Given the description of an element on the screen output the (x, y) to click on. 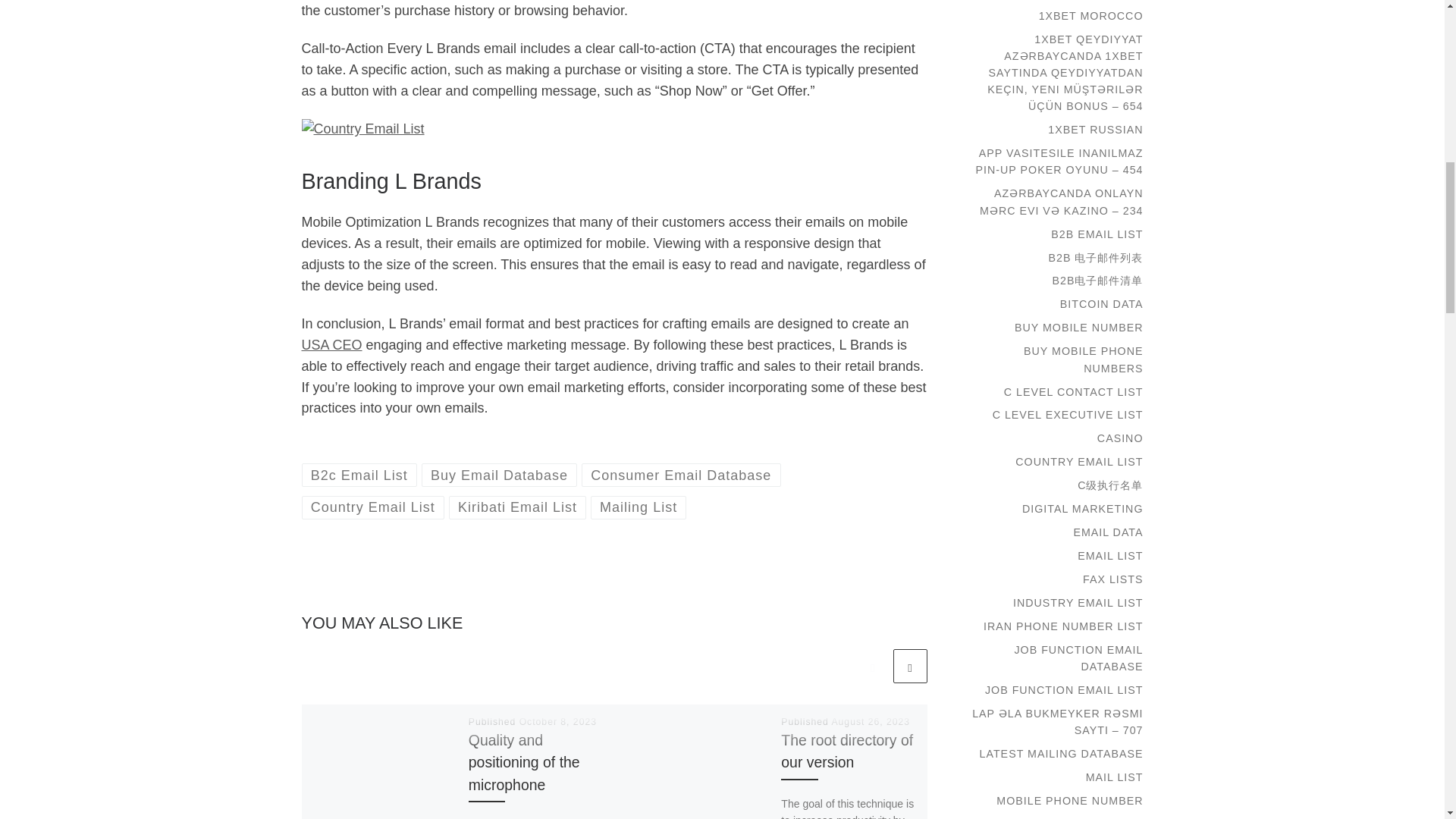
B2c Email List (359, 474)
Next related articles (910, 666)
October 8, 2023 (557, 721)
View all posts in Mailing List (639, 507)
August 26, 2023 (870, 721)
Mailing List (639, 507)
Previous related articles (872, 666)
Consumer Email Database (680, 474)
Kiribati Email List (517, 507)
Quality and positioning of the microphone (523, 762)
The root directory of our version (846, 751)
Buy Email Database (500, 474)
View all posts in Country Email List (373, 507)
View all posts in Consumer Email Database (680, 474)
View all posts in Kiribati Email List (517, 507)
